Given the description of an element on the screen output the (x, y) to click on. 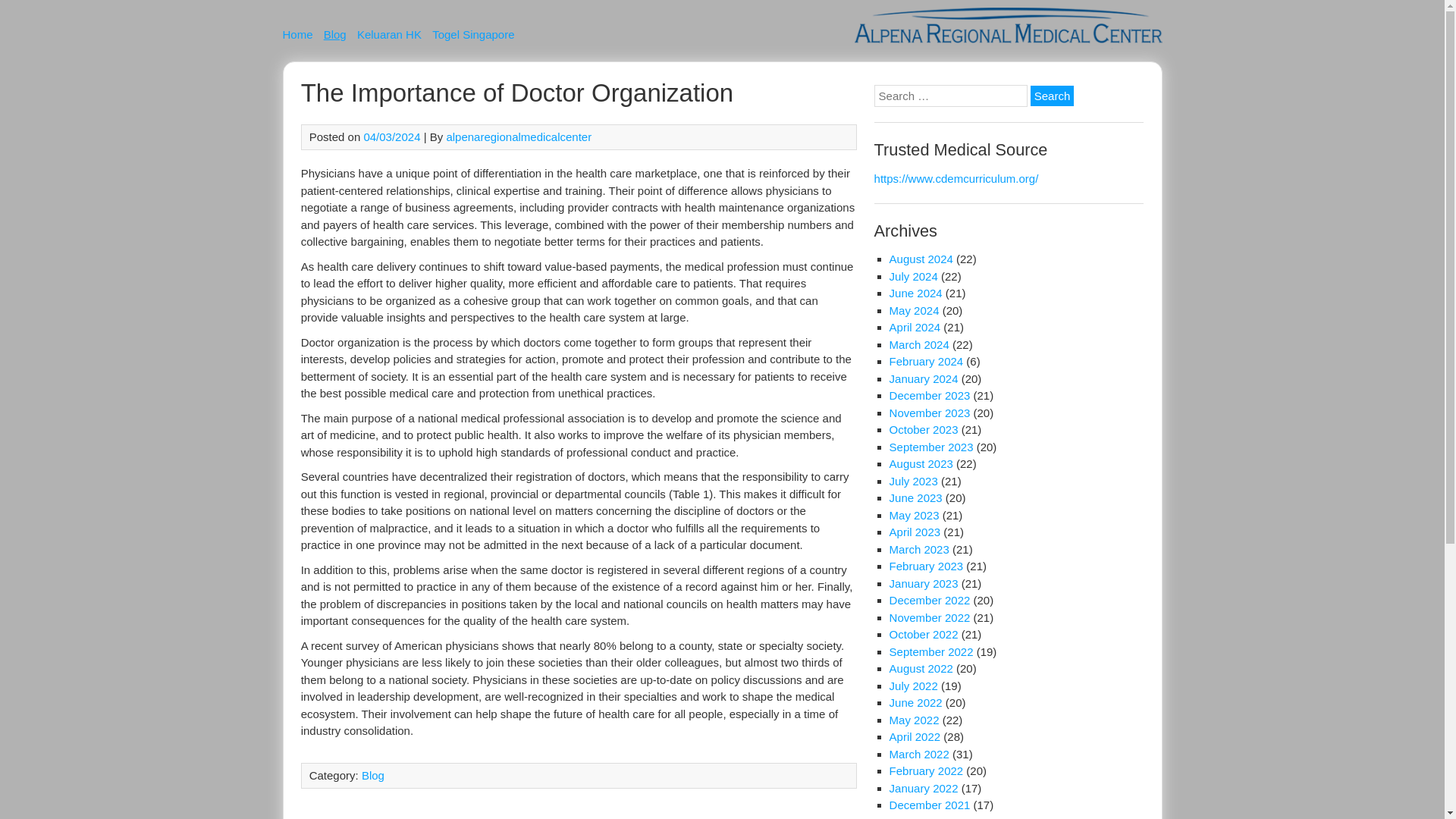
May 2024 (914, 309)
December 2022 (930, 599)
March 2023 (919, 549)
July 2023 (913, 481)
February 2023 (926, 565)
Search (1052, 95)
February 2024 (926, 360)
Home (297, 36)
December 2023 (930, 395)
September 2023 (931, 446)
